Given the description of an element on the screen output the (x, y) to click on. 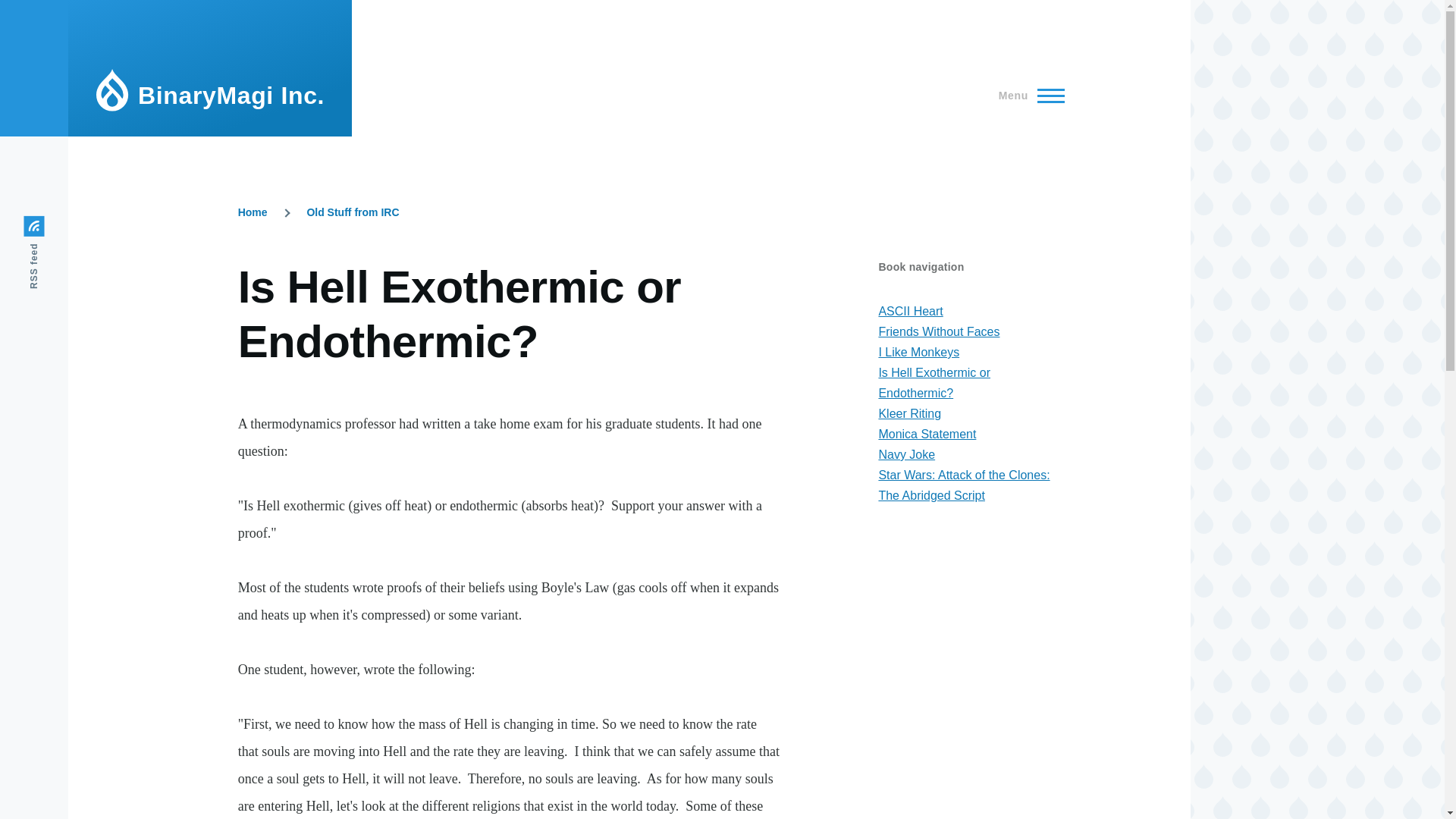
Old Stuff from IRC (351, 212)
ASCII Heart (909, 310)
Friends Without Faces (937, 331)
Monica Statement (926, 433)
Home (252, 212)
Star Wars: Attack of the Clones: The Abridged Script (963, 485)
Skip to main content (595, 6)
Navy Joke (905, 454)
I Like Monkeys (918, 351)
Is Hell Exothermic or Endothermic? (933, 382)
BinaryMagi Inc. (231, 94)
Menu (1026, 94)
Kleer Riting (908, 413)
Home (231, 94)
RSS feed (60, 225)
